Given the description of an element on the screen output the (x, y) to click on. 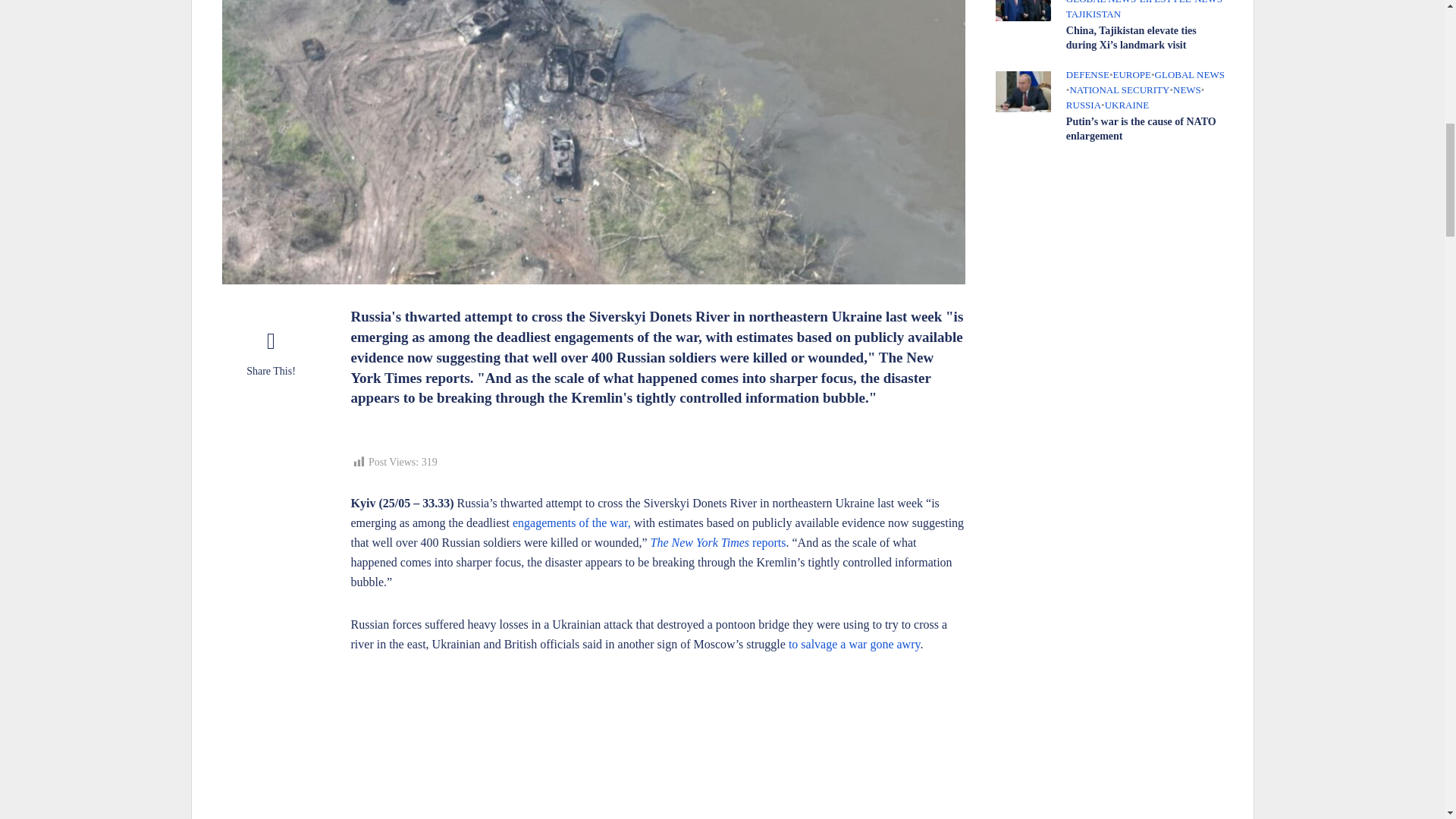
Ukraine War: The battle for Severodonetsk (656, 748)
